Given the description of an element on the screen output the (x, y) to click on. 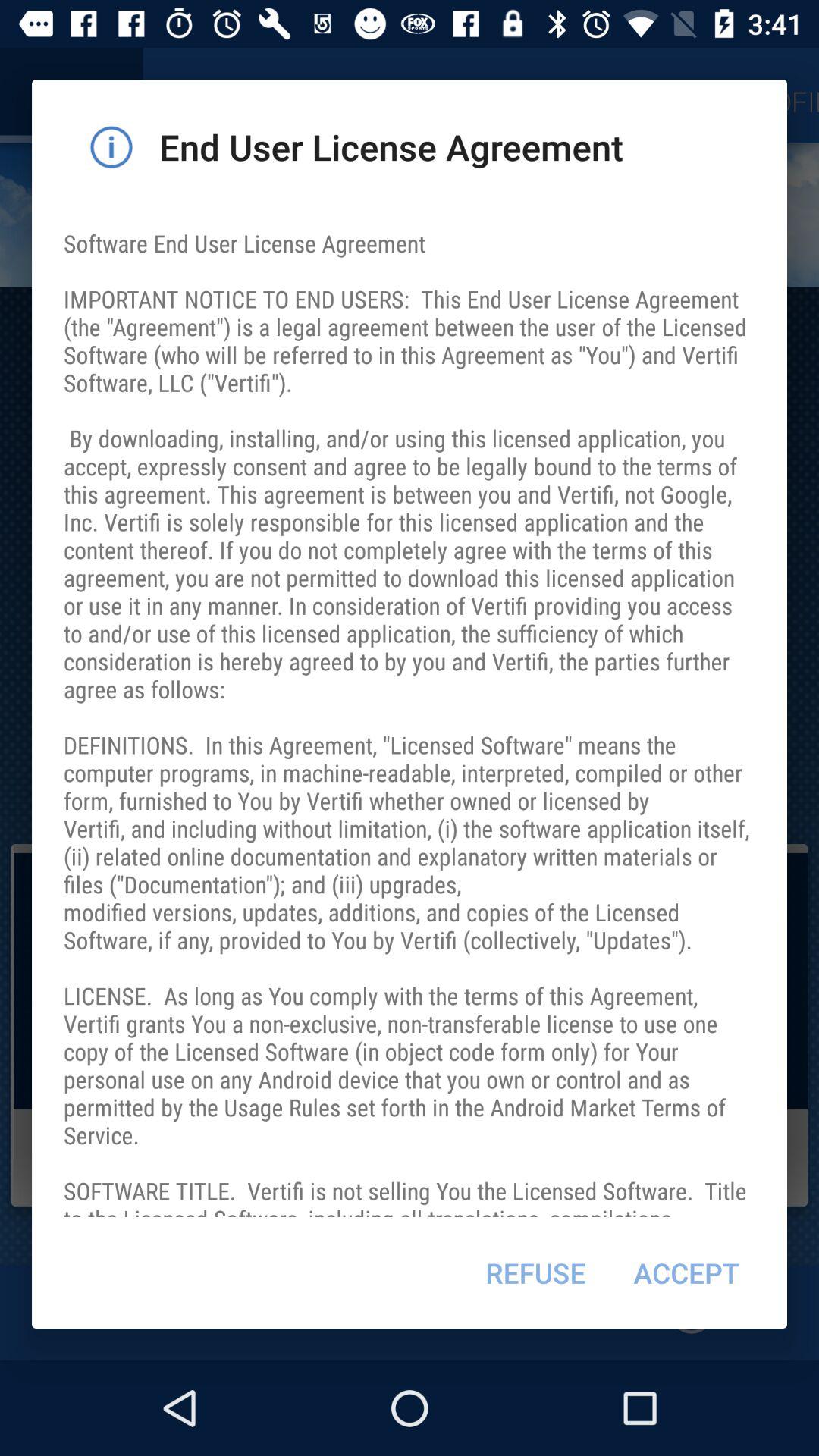
open the accept icon (686, 1272)
